Given the description of an element on the screen output the (x, y) to click on. 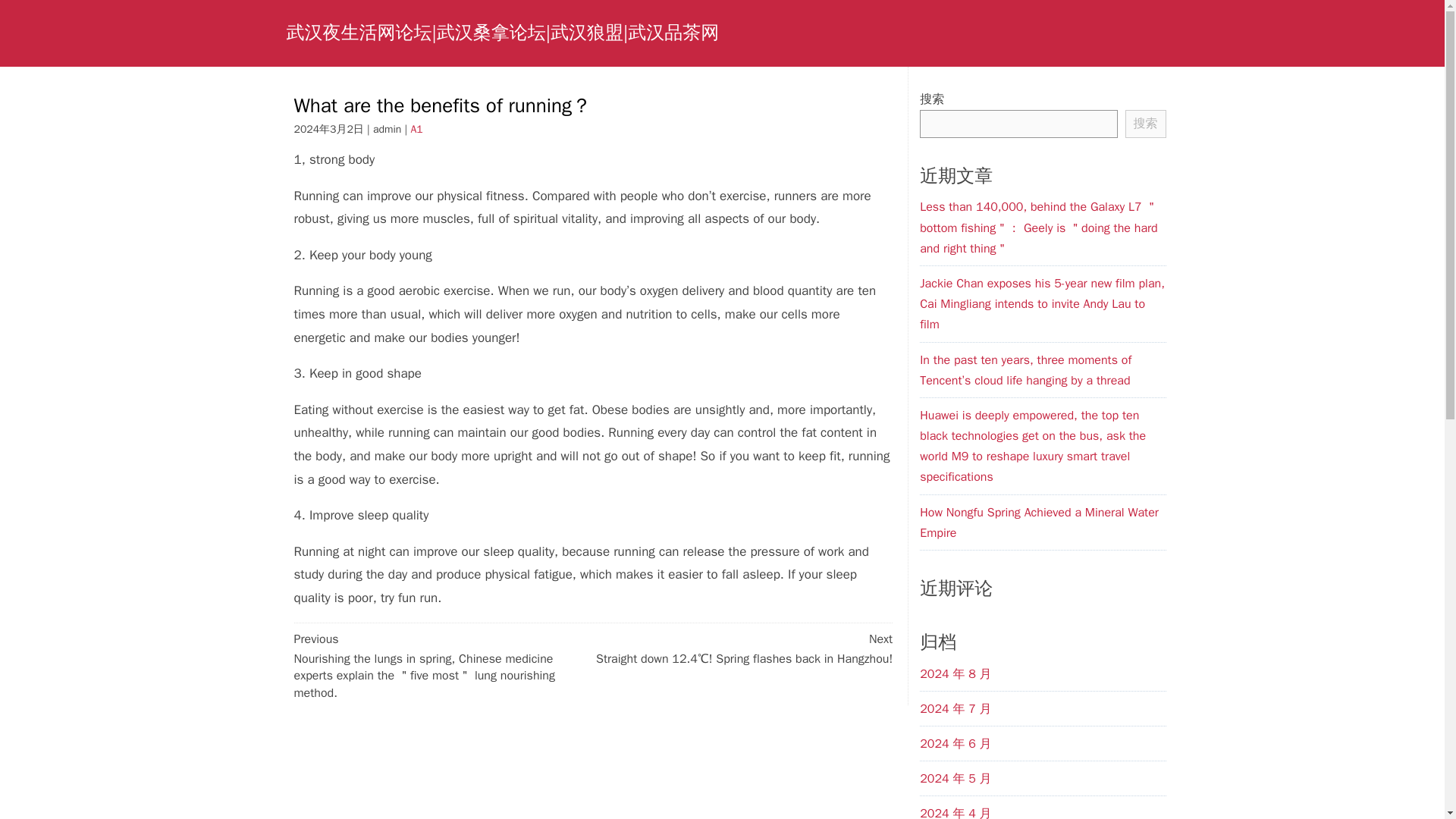
A1 (416, 128)
How Nongfu Spring Achieved a Mineral Water Empire (1039, 522)
